Given the description of an element on the screen output the (x, y) to click on. 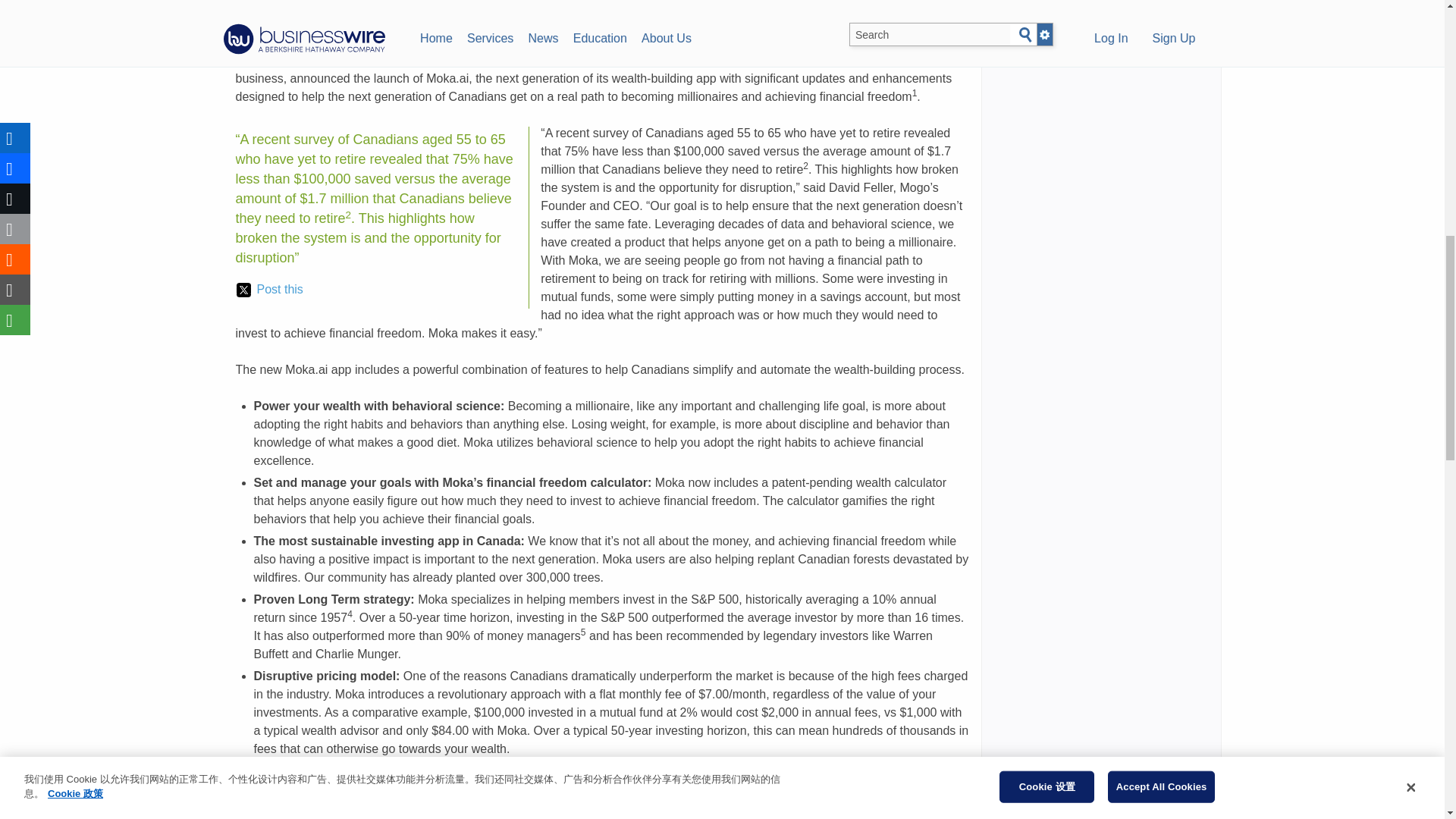
BUSINESS WIRE (467, 60)
Mogo Inc. (553, 60)
Post this (269, 289)
